Given the description of an element on the screen output the (x, y) to click on. 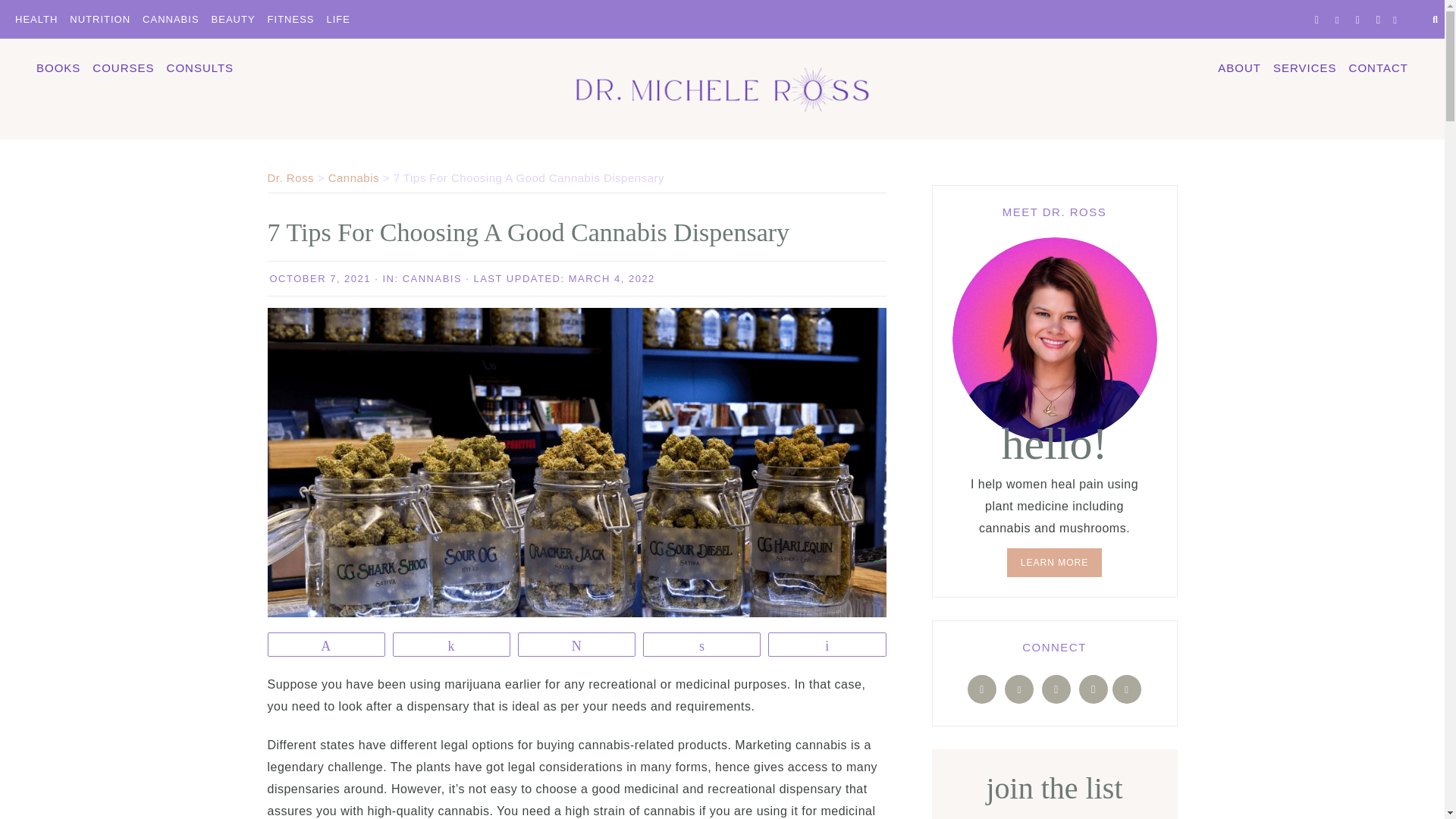
FITNESS (291, 18)
HEALTH (36, 18)
BEAUTY (233, 18)
NUTRITION (100, 18)
CANNABIS (170, 18)
LIFE (337, 18)
